Given the description of an element on the screen output the (x, y) to click on. 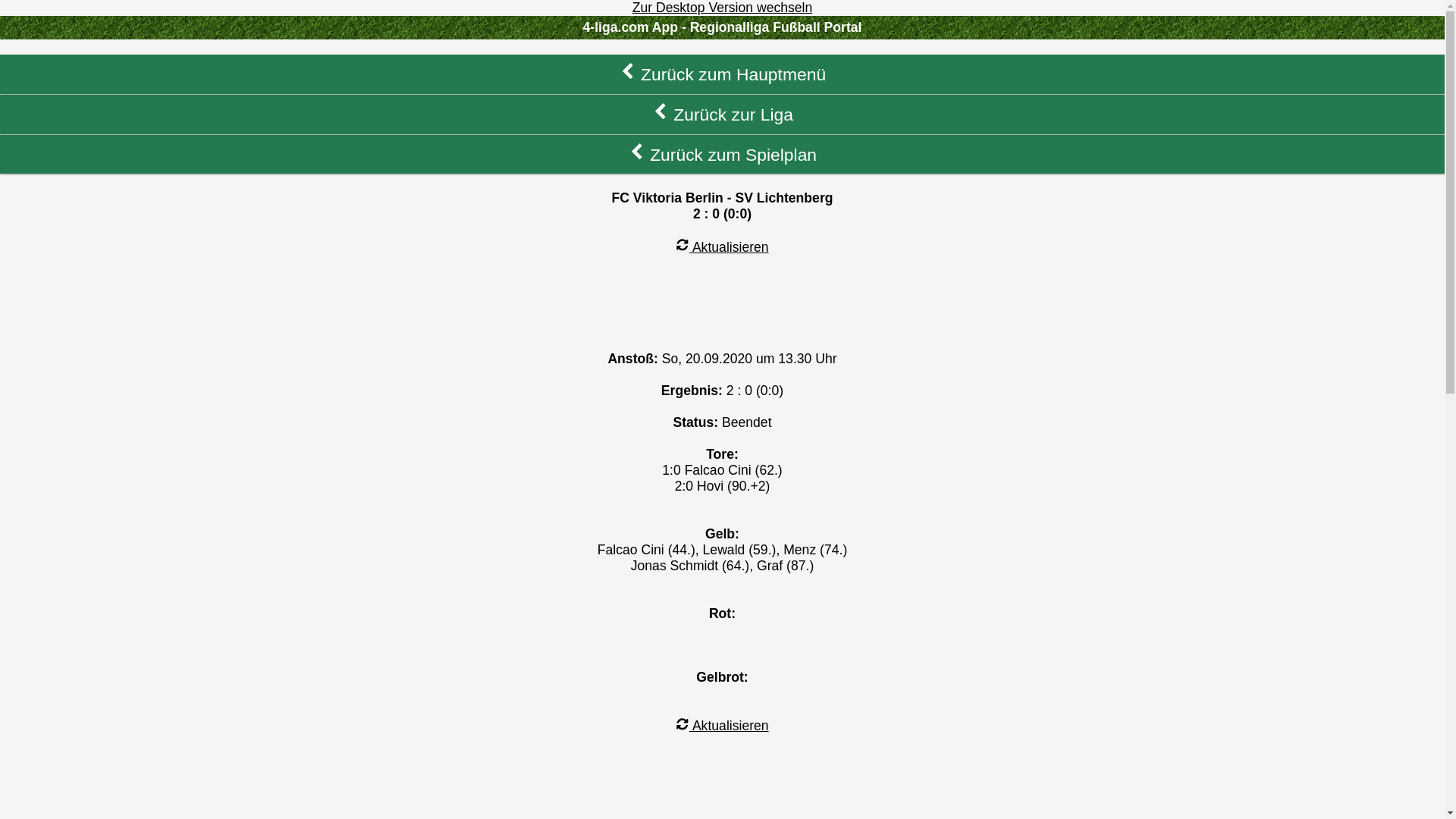
Aktualisieren Element type: text (721, 725)
Zur Desktop Version wechseln Element type: text (722, 7)
Aktualisieren Element type: text (721, 246)
